Given the description of an element on the screen output the (x, y) to click on. 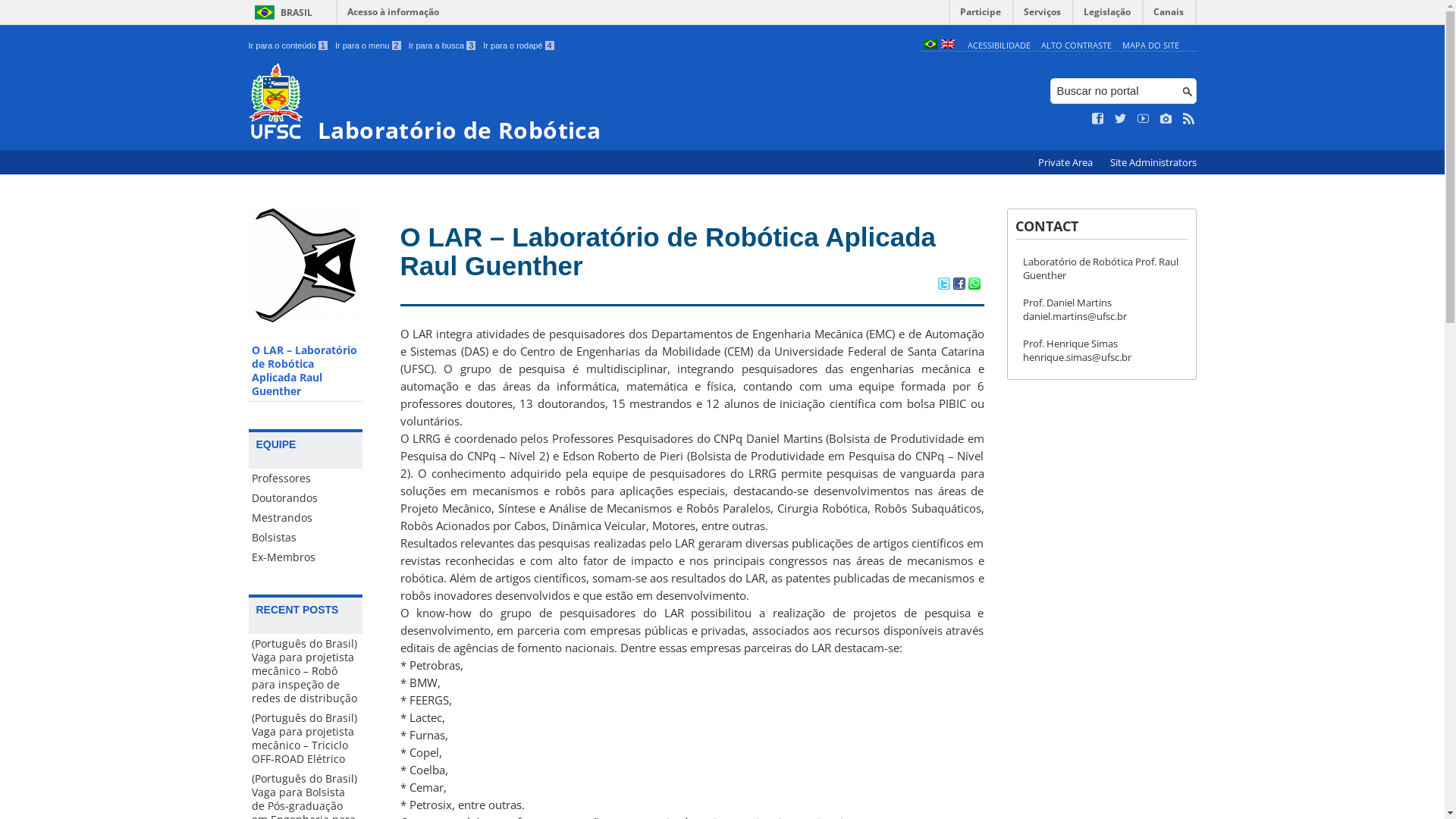
Participe Element type: text (980, 15)
Compartilhar no WhatsApp Element type: hover (973, 284)
Ir para a busca 3 Element type: text (442, 45)
Private Area Element type: text (1065, 162)
Ir para o menu 2 Element type: text (368, 45)
Ex-Membros Element type: text (305, 557)
Doutorandos Element type: text (305, 498)
English (en) Element type: hover (946, 44)
BRASIL Element type: text (280, 12)
Veja no Instagram Element type: hover (1166, 118)
Professores Element type: text (305, 478)
Compartilhar no Twitter Element type: hover (943, 284)
Mestrandos Element type: text (305, 517)
Siga no Twitter Element type: hover (1120, 118)
Site Administrators Element type: text (1153, 162)
ALTO CONTRASTE Element type: text (1076, 44)
Canais Element type: text (1169, 15)
Curta no Facebook Element type: hover (1098, 118)
Compartilhar no Facebook Element type: hover (958, 284)
ACESSIBILIDADE Element type: text (998, 44)
MAPA DO SITE Element type: text (1150, 44)
Bolsistas Element type: text (305, 537)
